Given the description of an element on the screen output the (x, y) to click on. 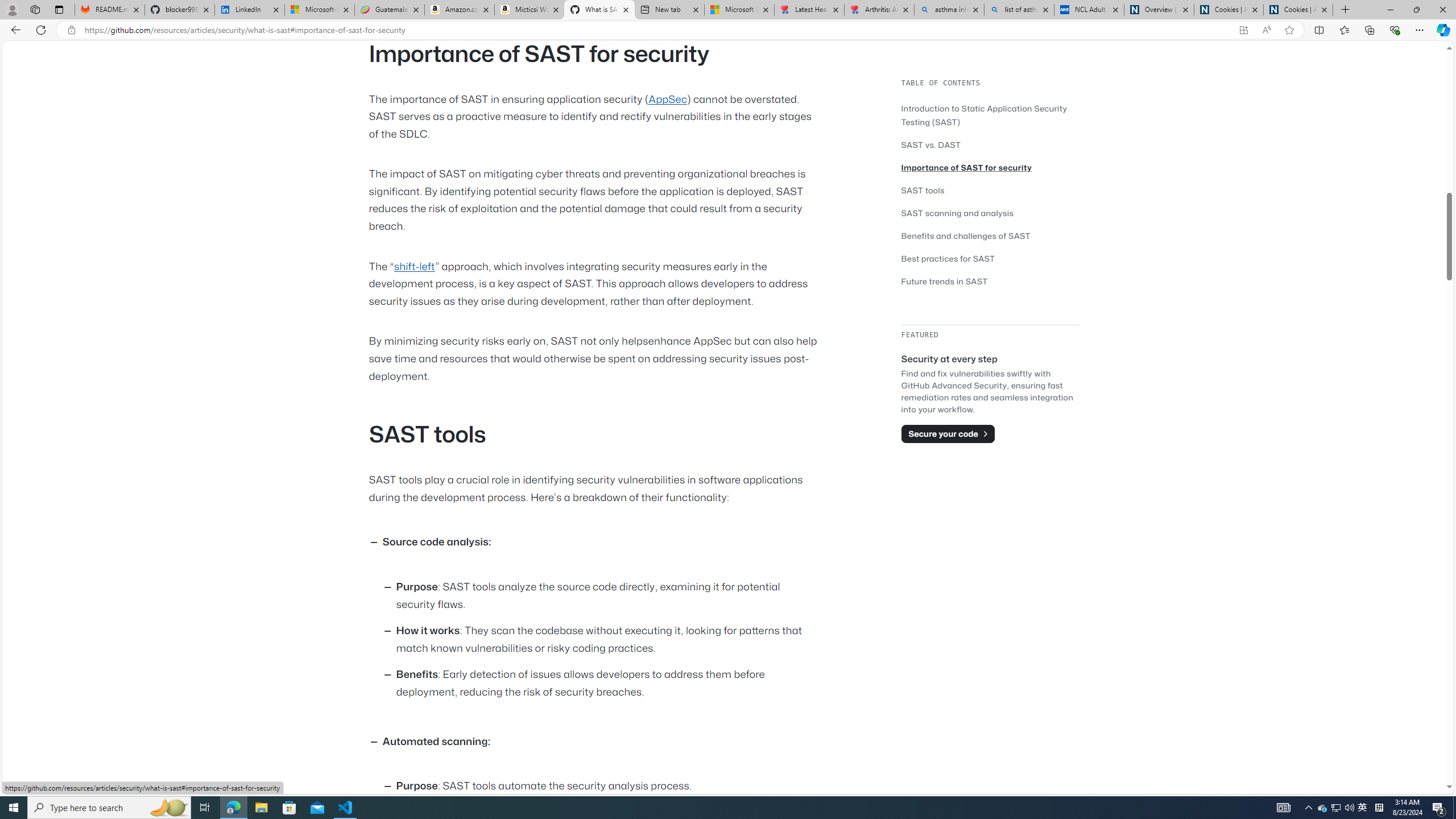
Introduction to Static Application Security Testing (SAST) (984, 114)
App available. Install GitHub (1243, 29)
Introduction to Static Application Security Testing (SAST) (989, 115)
SAST tools (989, 190)
Purpose: SAST tools automate the security analysis process. (608, 787)
